Given the description of an element on the screen output the (x, y) to click on. 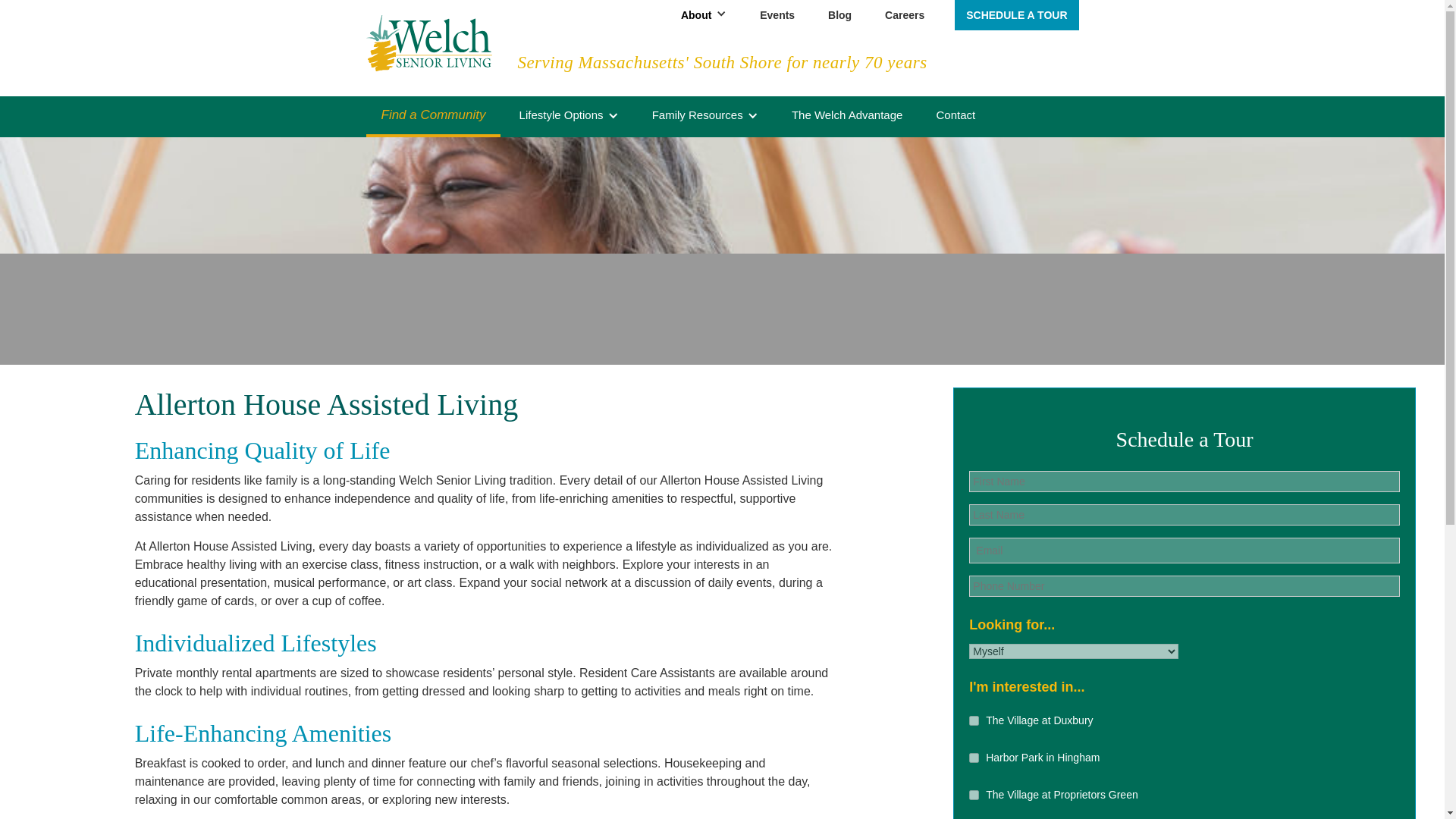
Events (776, 13)
Careers (904, 13)
Contact (955, 114)
The Village at Proprietors Green (973, 795)
The Village at Duxbury (973, 720)
Blog (839, 13)
Lifestyle Options (561, 114)
Family Resources (697, 114)
The Welch Advantage (847, 114)
Find a Community (432, 114)
About (696, 15)
SCHEDULE A TOUR (1016, 15)
Harbor Park in Hingham (973, 757)
